Given the description of an element on the screen output the (x, y) to click on. 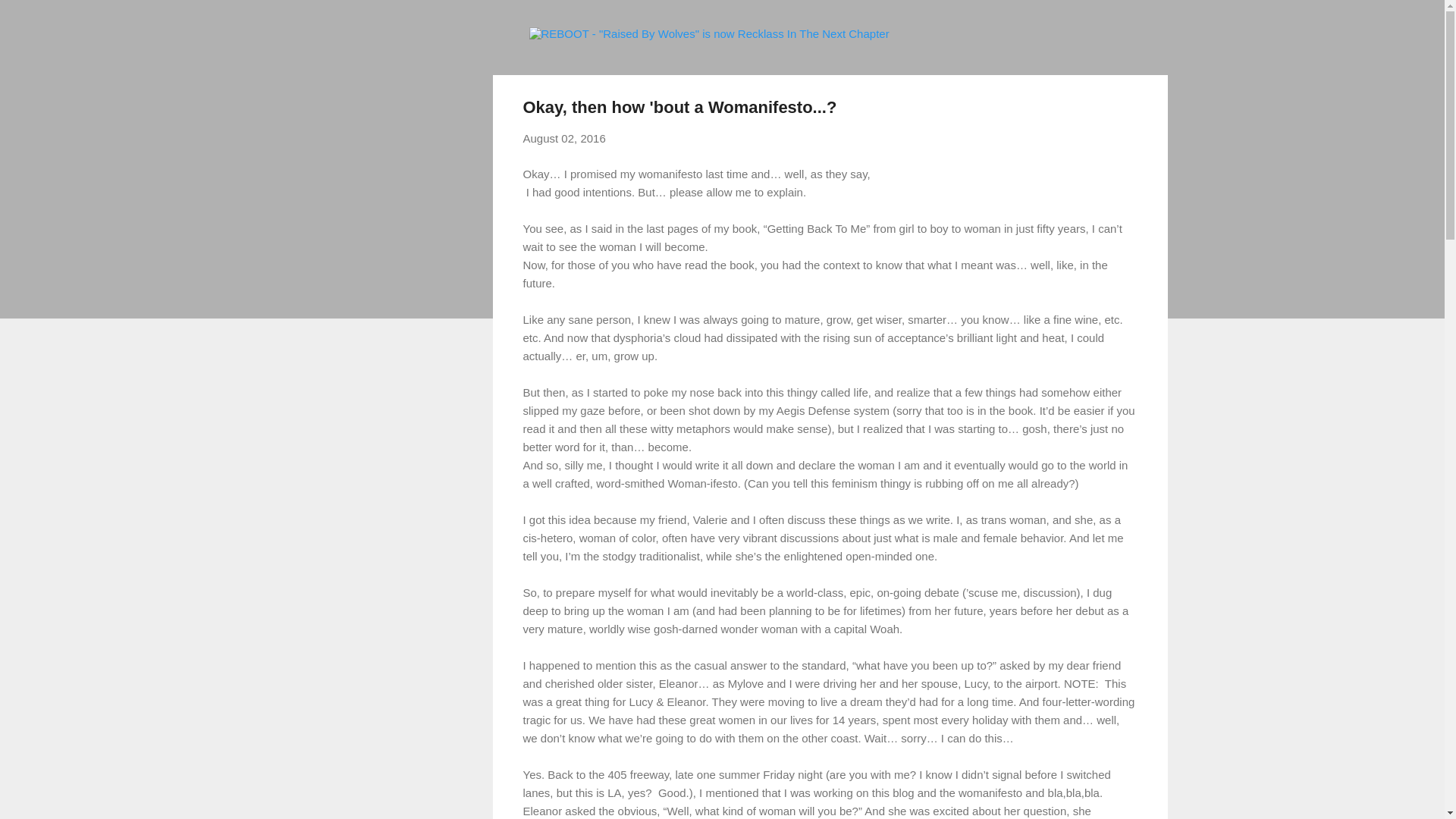
permanent link (563, 137)
Search (29, 18)
August 02, 2016 (563, 137)
